Given the description of an element on the screen output the (x, y) to click on. 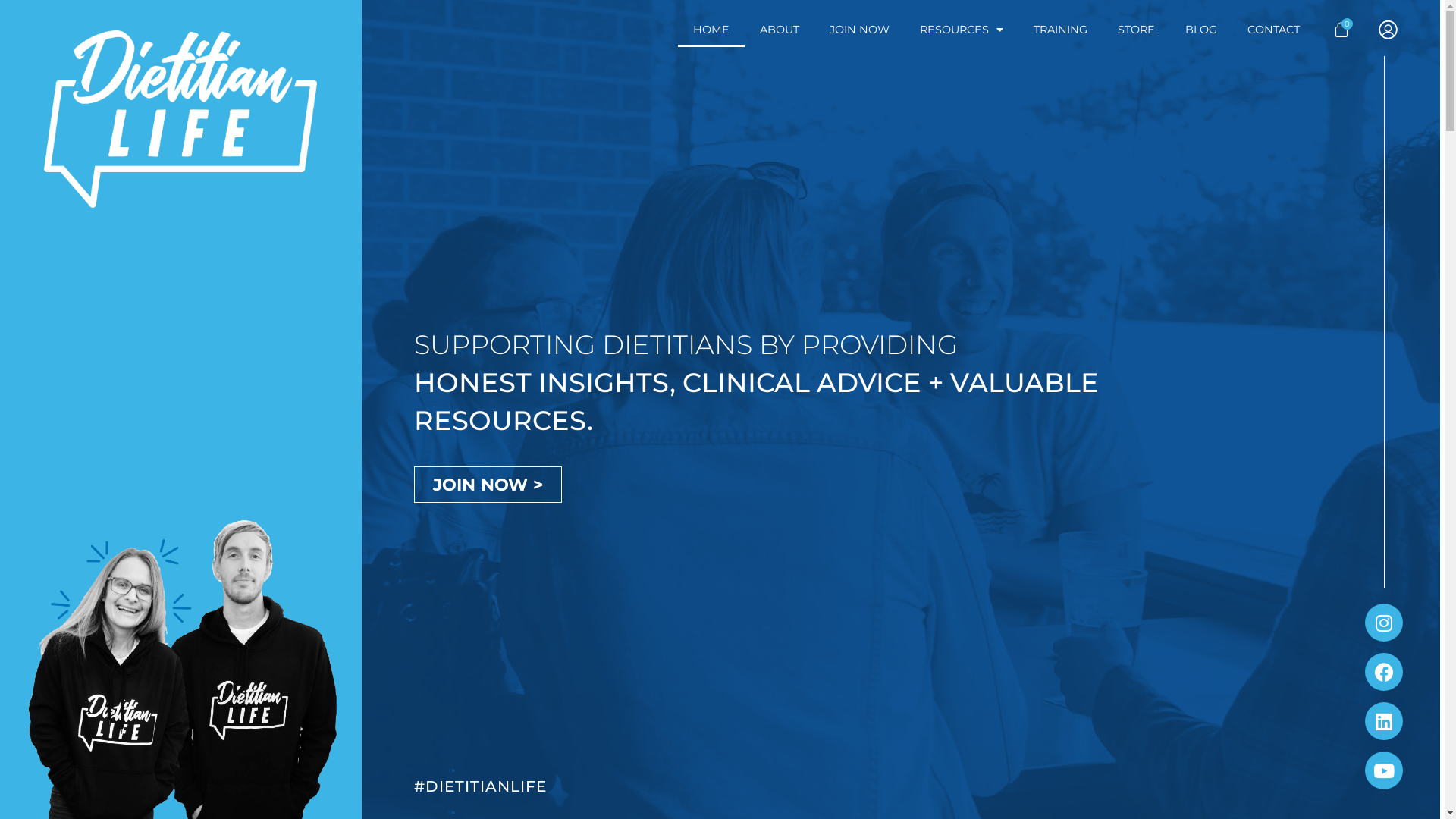
CONTACT Element type: text (1273, 29)
0 Element type: text (1341, 29)
RESOURCES Element type: text (961, 29)
HOME Element type: text (710, 29)
STORE Element type: text (1136, 29)
JOIN NOW Element type: text (859, 29)
JOIN NOW > Element type: text (487, 484)
ABOUT Element type: text (779, 29)
TRAINING Element type: text (1060, 29)
BLOG Element type: text (1201, 29)
